Given the description of an element on the screen output the (x, y) to click on. 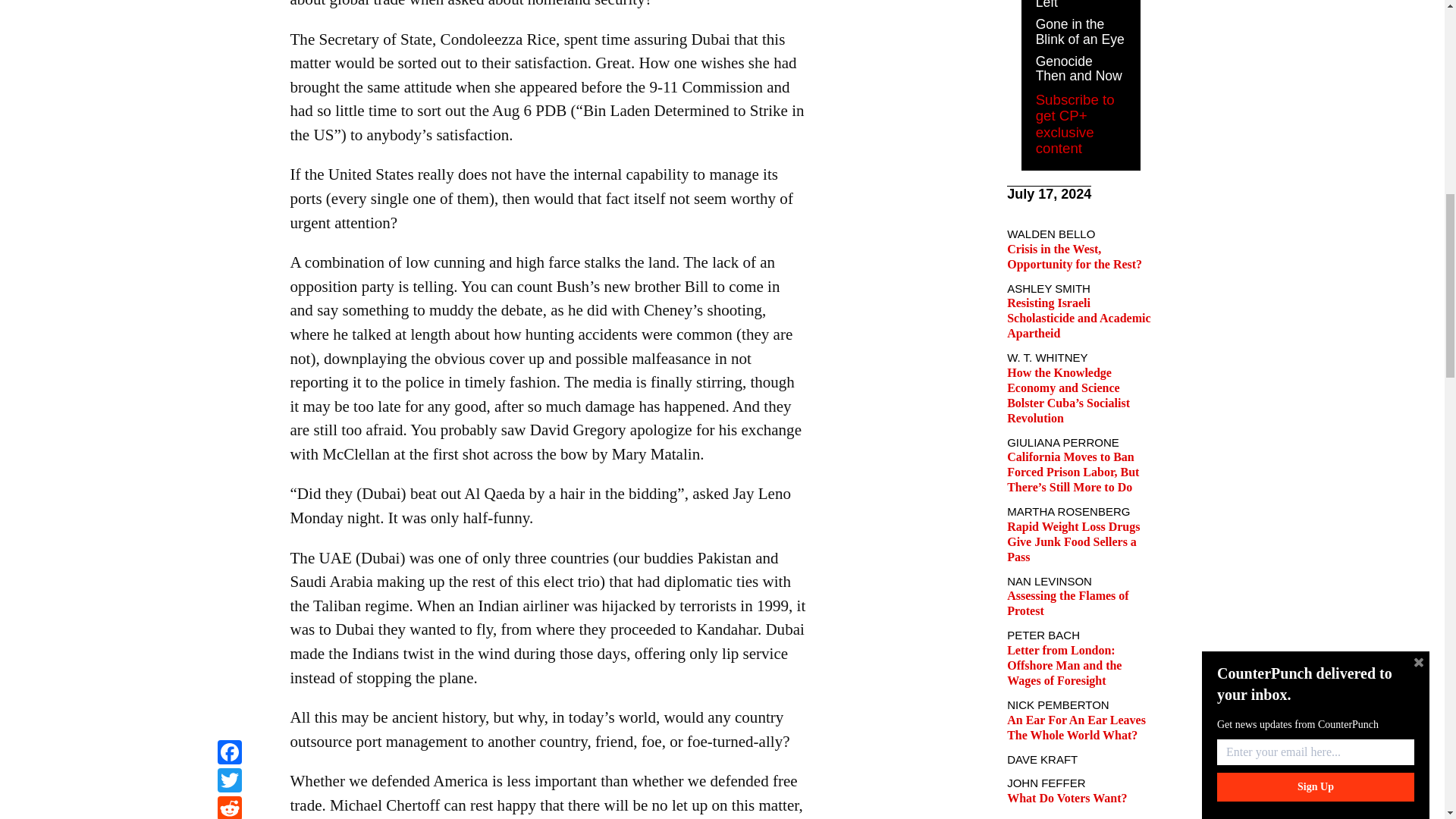
Email (229, 18)
The Molting of the Dirtbag Left (1077, 4)
Reddit (229, 2)
Email (229, 18)
Reddit (229, 2)
